Given the description of an element on the screen output the (x, y) to click on. 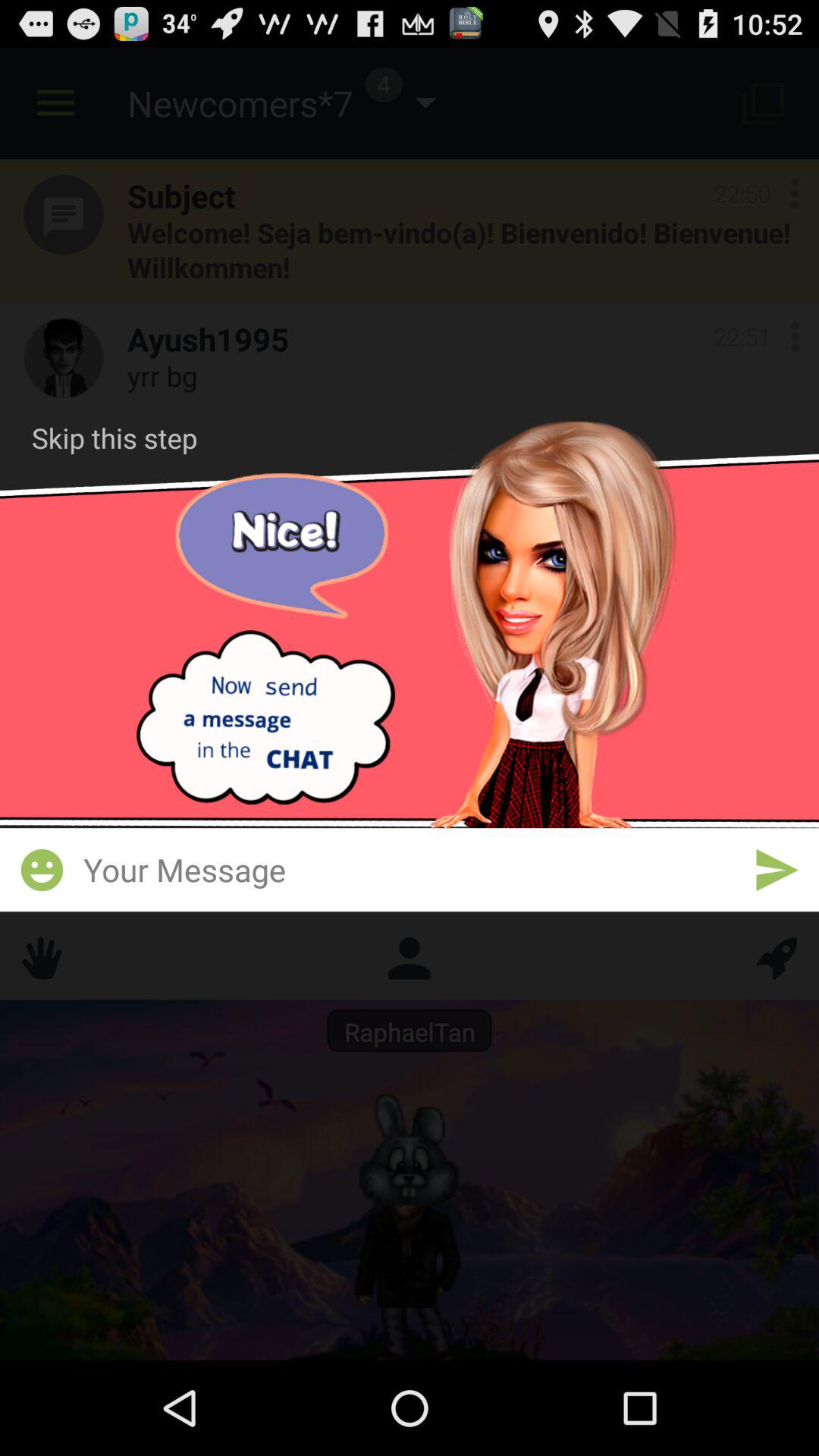
turn on skip this step icon (114, 437)
